Given the description of an element on the screen output the (x, y) to click on. 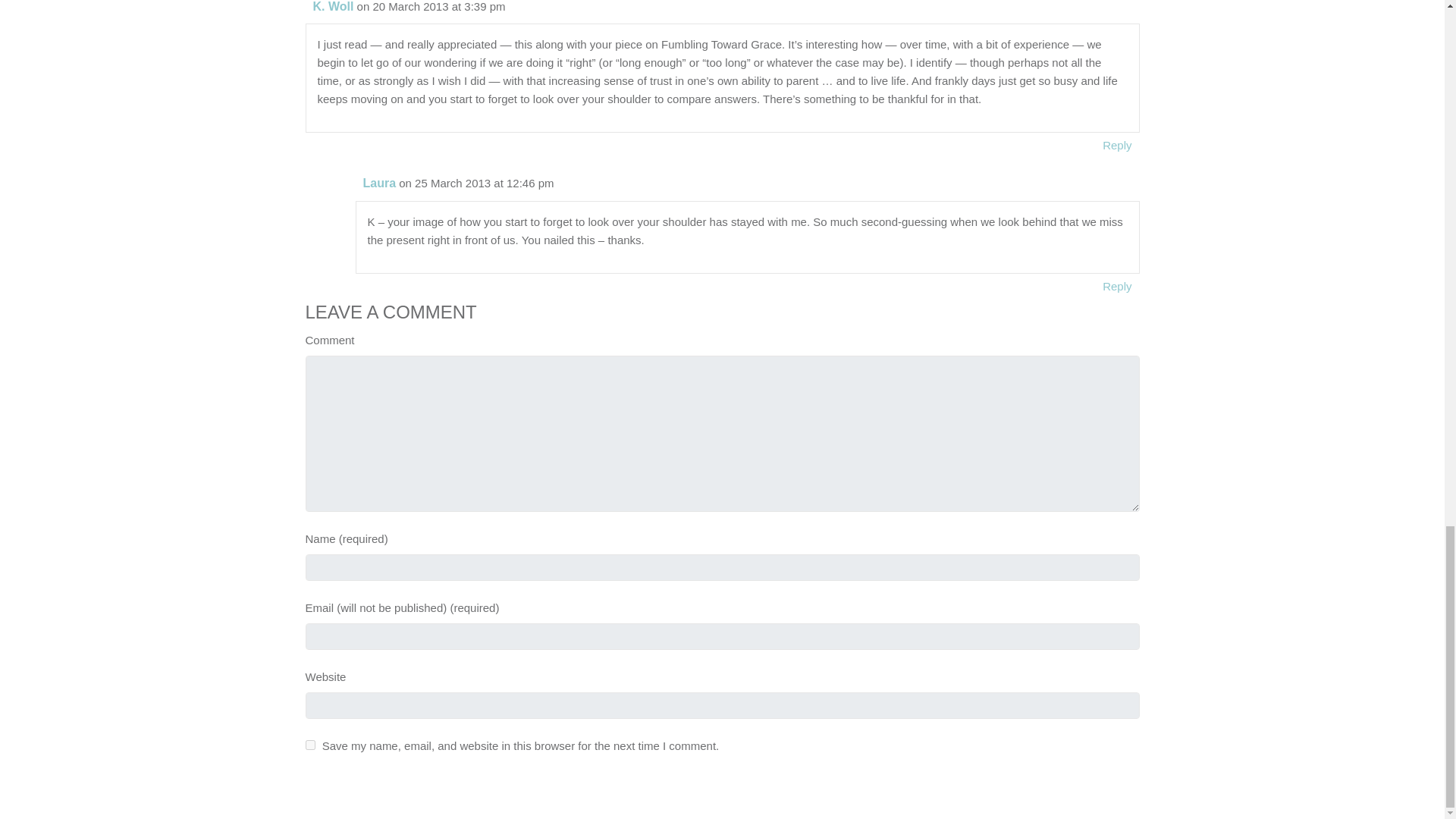
Laura (379, 182)
Reply (1117, 145)
K. Woll (333, 6)
yes (309, 745)
Reply (1117, 286)
